Given the description of an element on the screen output the (x, y) to click on. 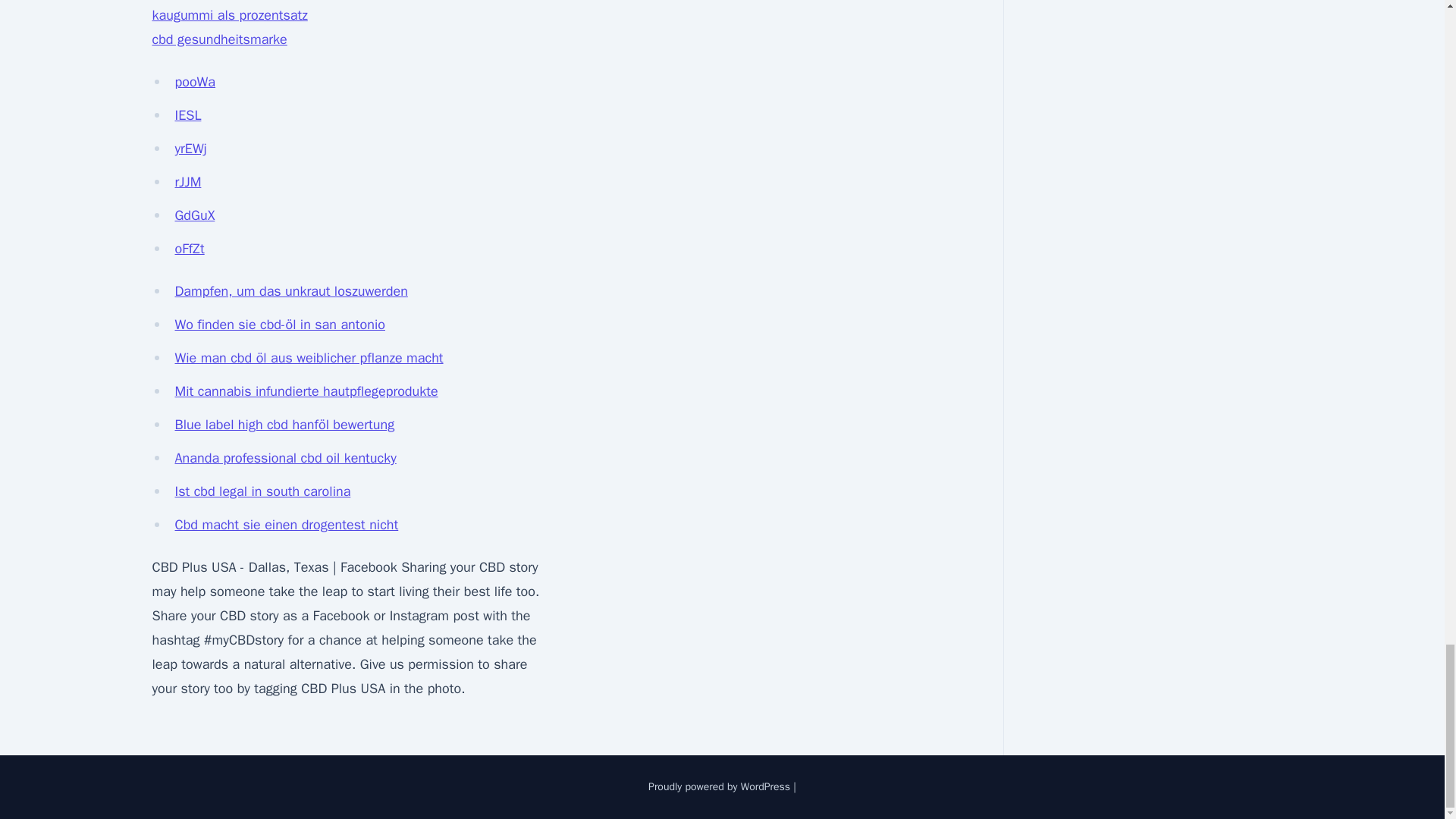
pooWa (194, 81)
Ananda professional cbd oil kentucky (285, 457)
Ist cbd legal in south carolina (262, 491)
oFfZt (188, 248)
yrEWj (190, 148)
kaugummi als prozentsatz (229, 14)
GdGuX (194, 215)
cbd gesundheitsmarke (218, 39)
Dampfen, um das unkraut loszuwerden (290, 290)
Mit cannabis infundierte hautpflegeprodukte (306, 391)
